Given the description of an element on the screen output the (x, y) to click on. 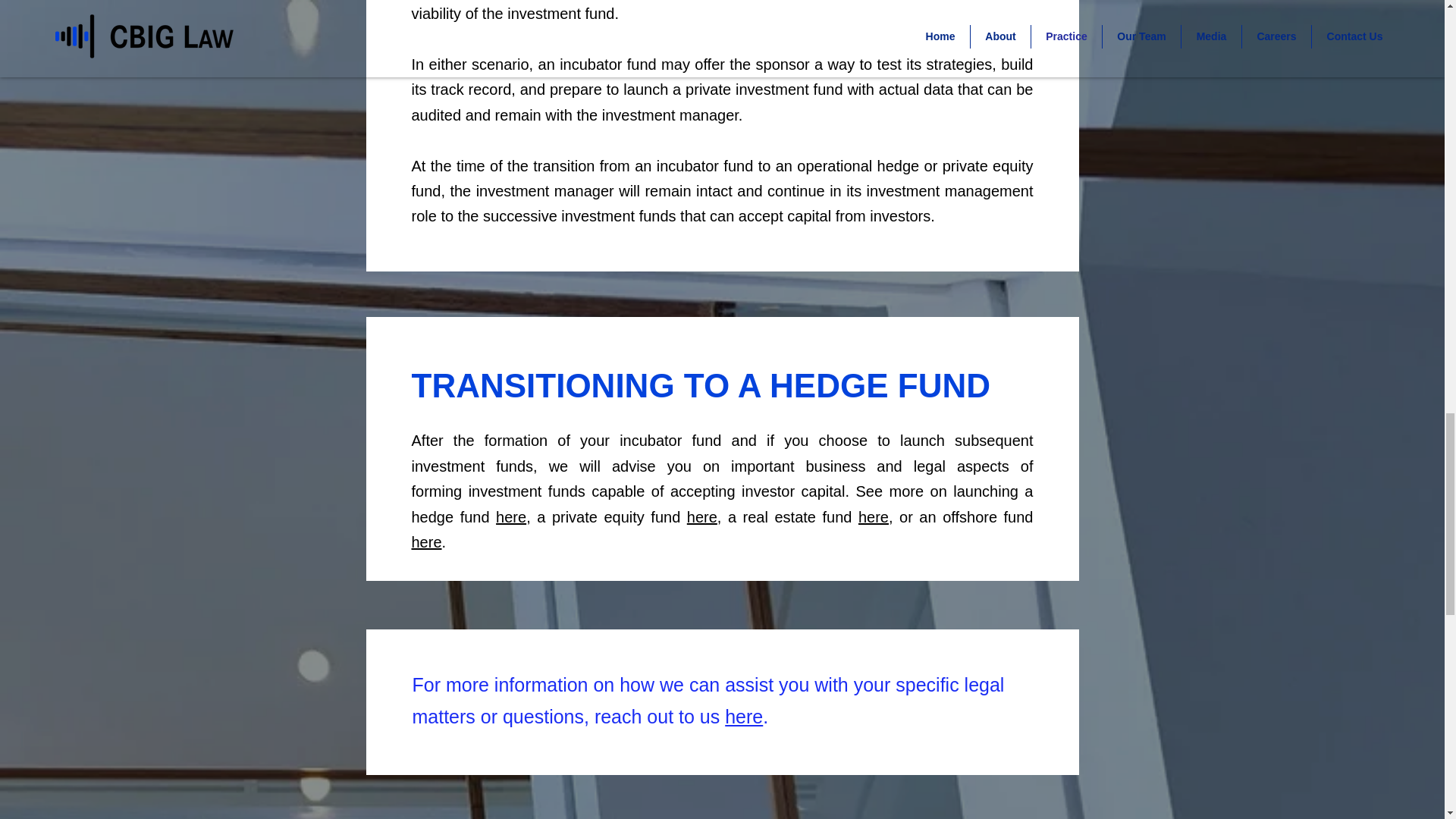
here (743, 716)
here (425, 541)
here (510, 516)
here (702, 516)
here (873, 516)
